Given the description of an element on the screen output the (x, y) to click on. 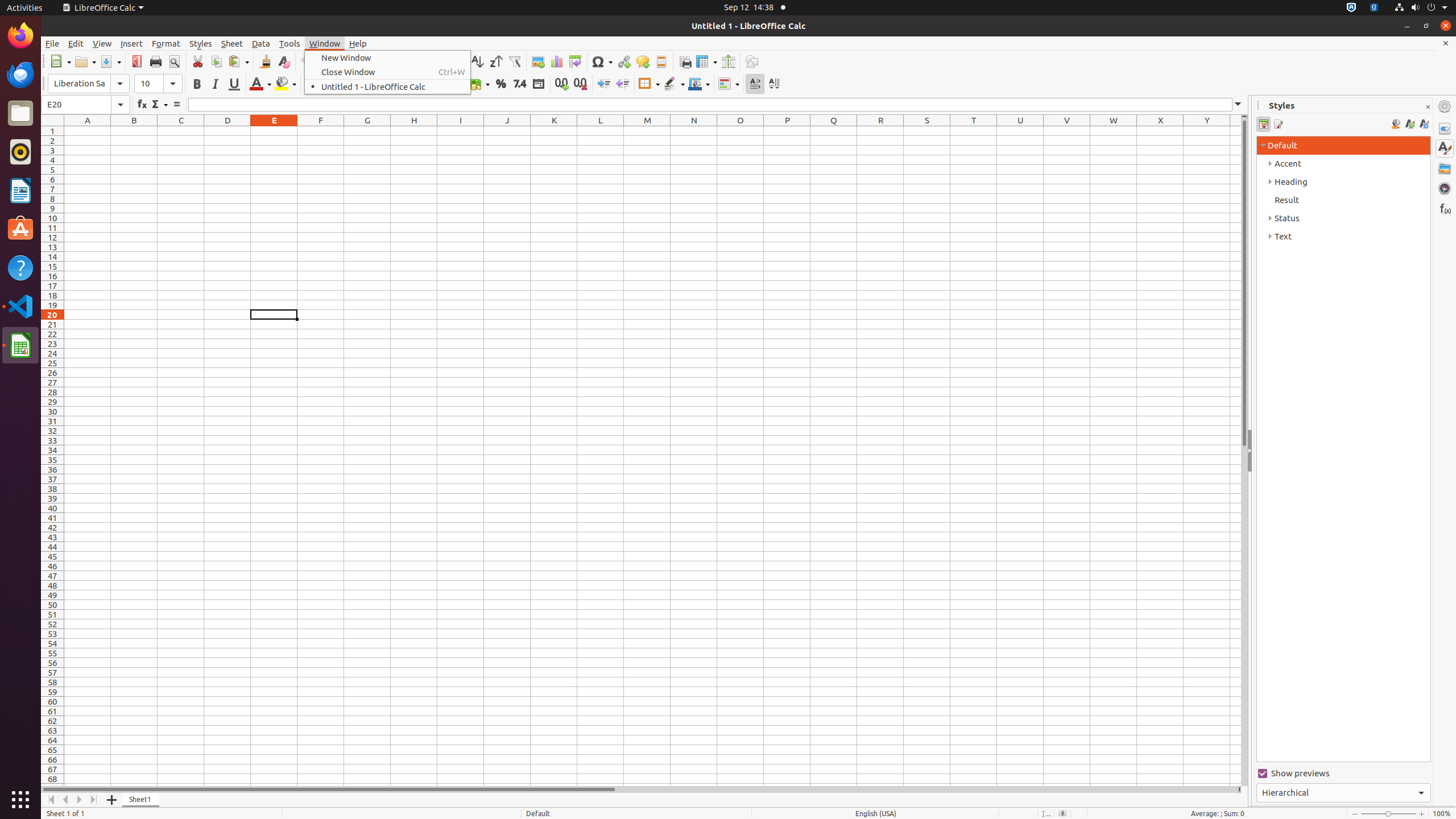
Rhythmbox Element type: push-button (20, 151)
Name Box Element type: combo-box (85, 104)
Close Sidebar Deck Element type: push-button (1427, 106)
F1 Element type: table-cell (320, 130)
Print Element type: push-button (155, 61)
